Given the description of an element on the screen output the (x, y) to click on. 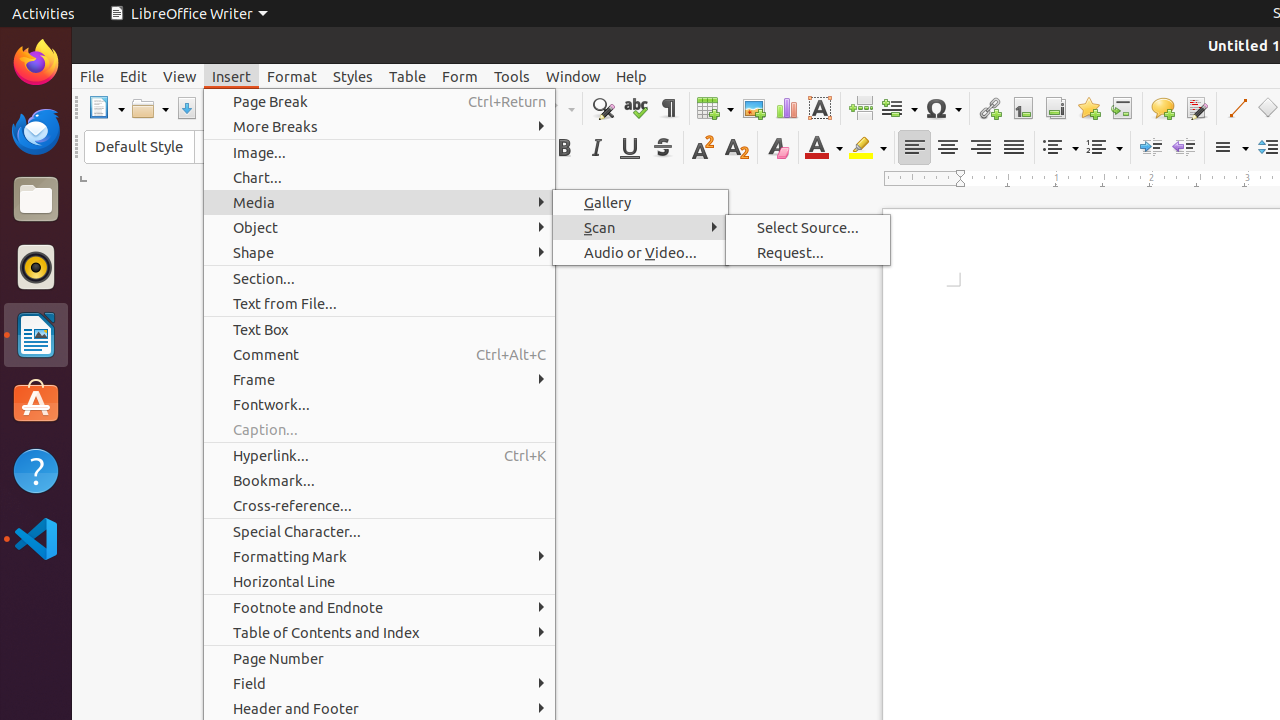
Bookmark Element type: push-button (1088, 108)
Edit Element type: menu (133, 76)
Comment Element type: push-button (1162, 108)
Help Element type: push-button (36, 470)
Chart... Element type: menu-item (379, 177)
